Given the description of an element on the screen output the (x, y) to click on. 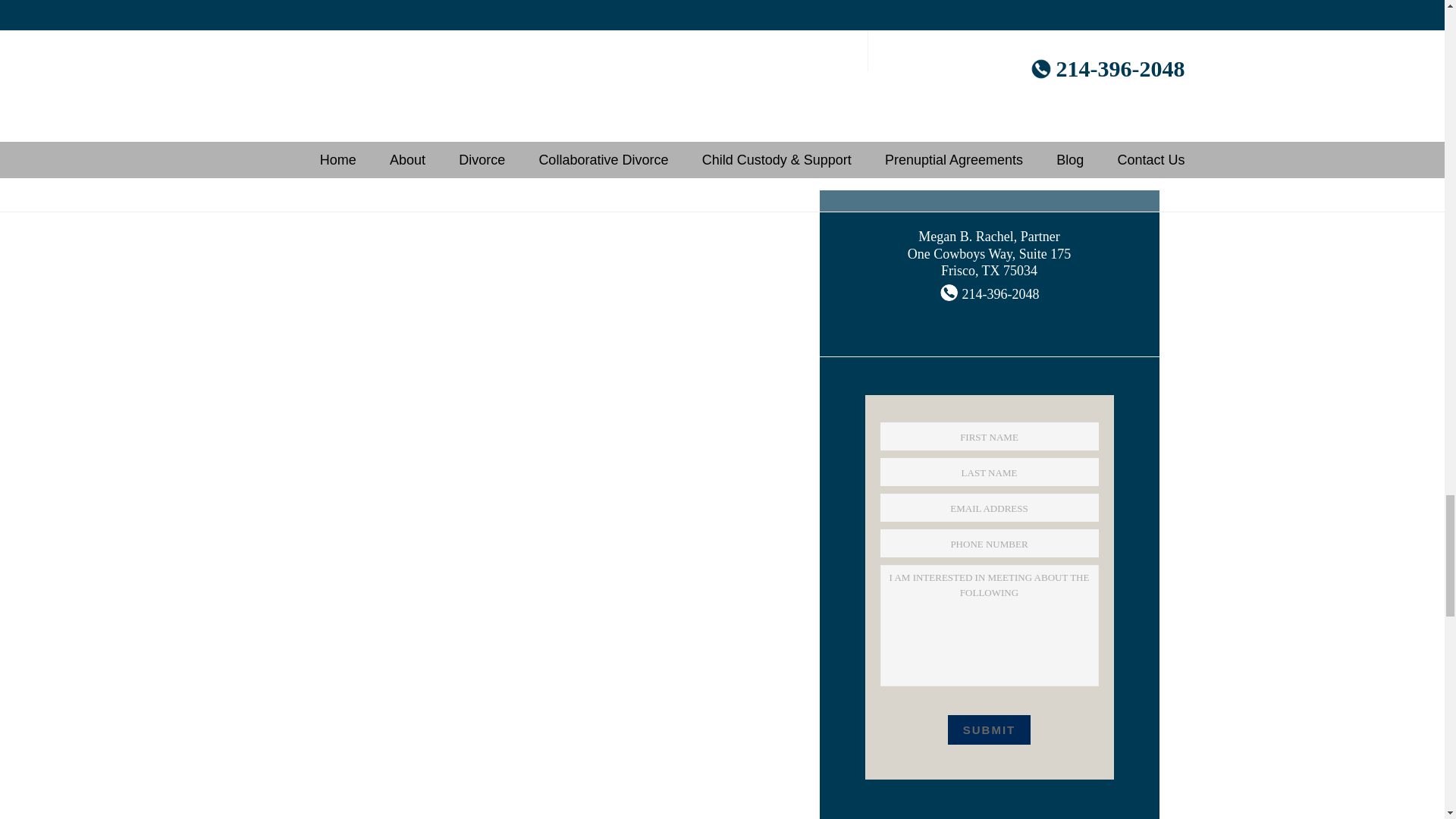
Submit (988, 729)
